Given the description of an element on the screen output the (x, y) to click on. 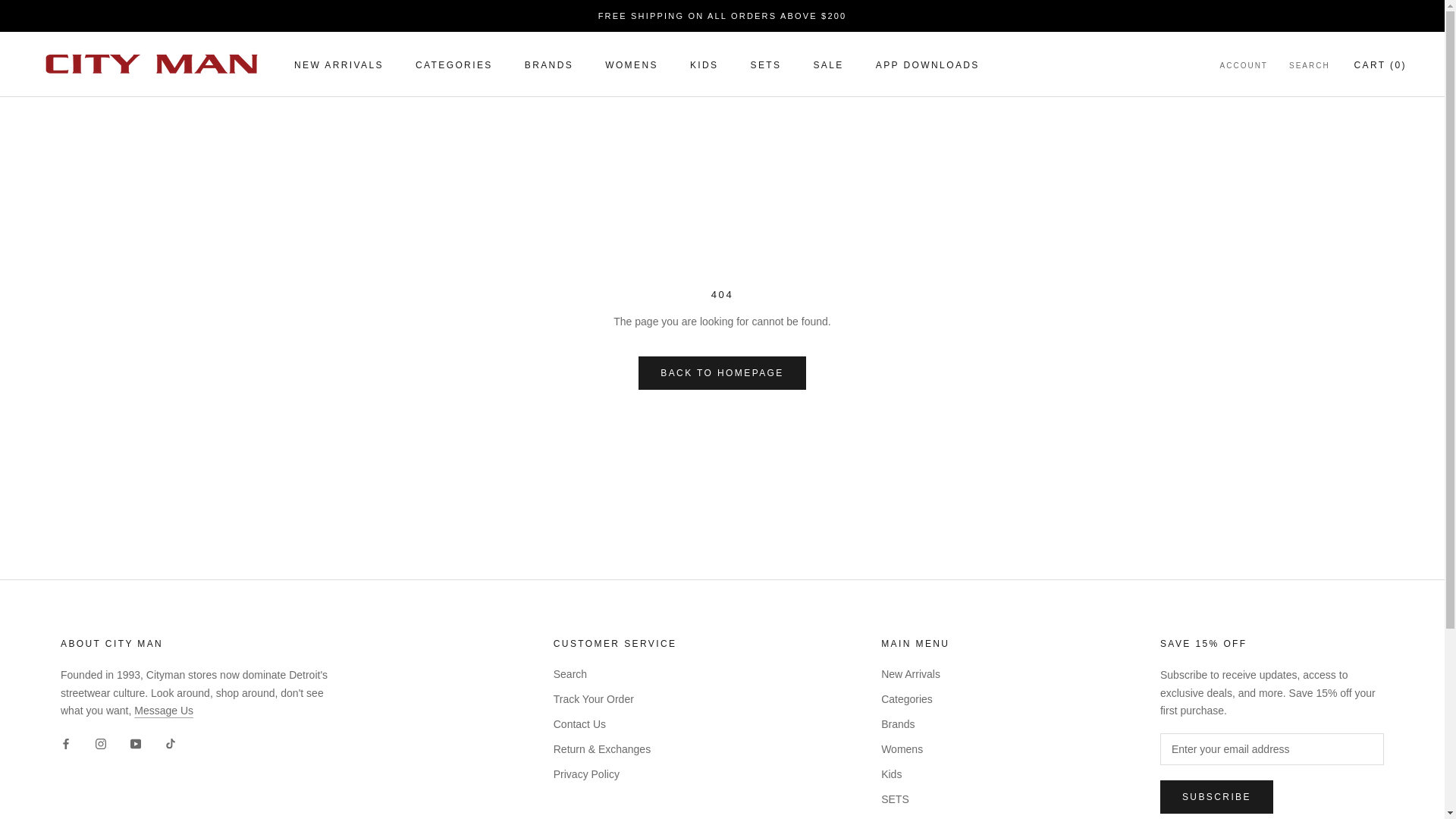
Contact Us (163, 710)
